Given the description of an element on the screen output the (x, y) to click on. 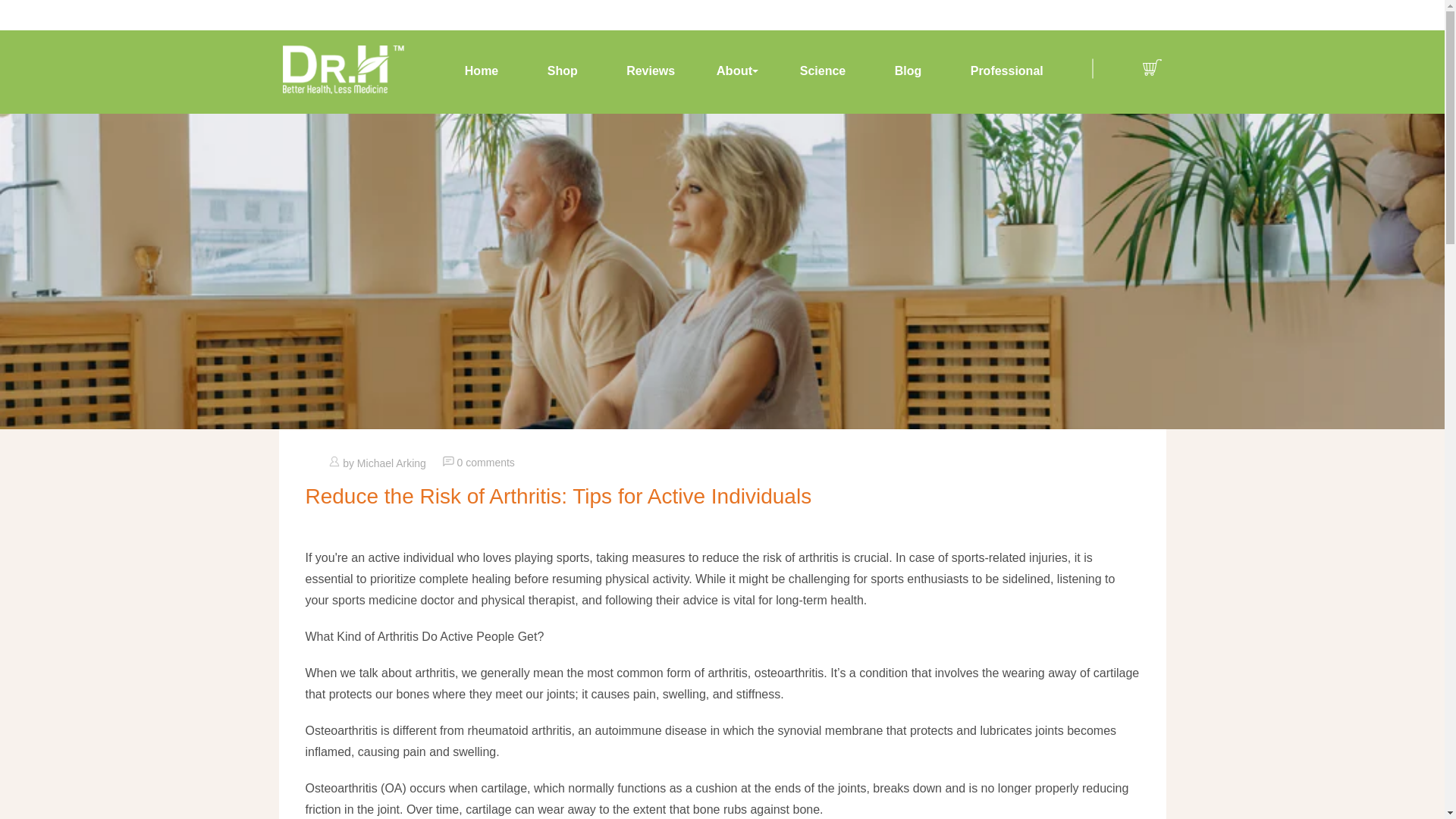
Home (481, 71)
Reviews (650, 71)
Professional (1006, 71)
Blog (908, 71)
0 comments (486, 462)
About (737, 71)
Shop (561, 71)
Science (822, 71)
